Given the description of an element on the screen output the (x, y) to click on. 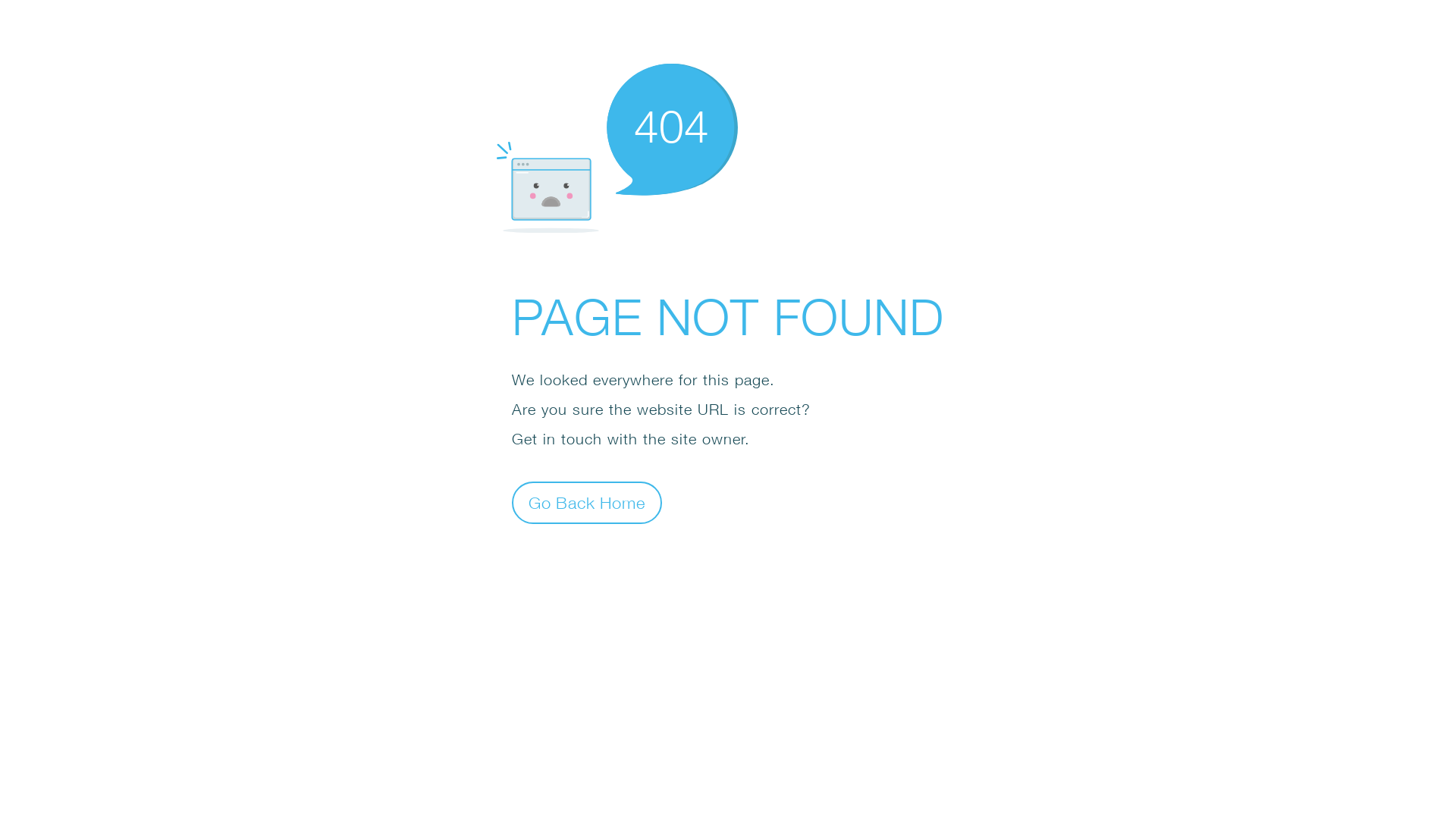
Go Back Home Element type: text (586, 502)
